Given the description of an element on the screen output the (x, y) to click on. 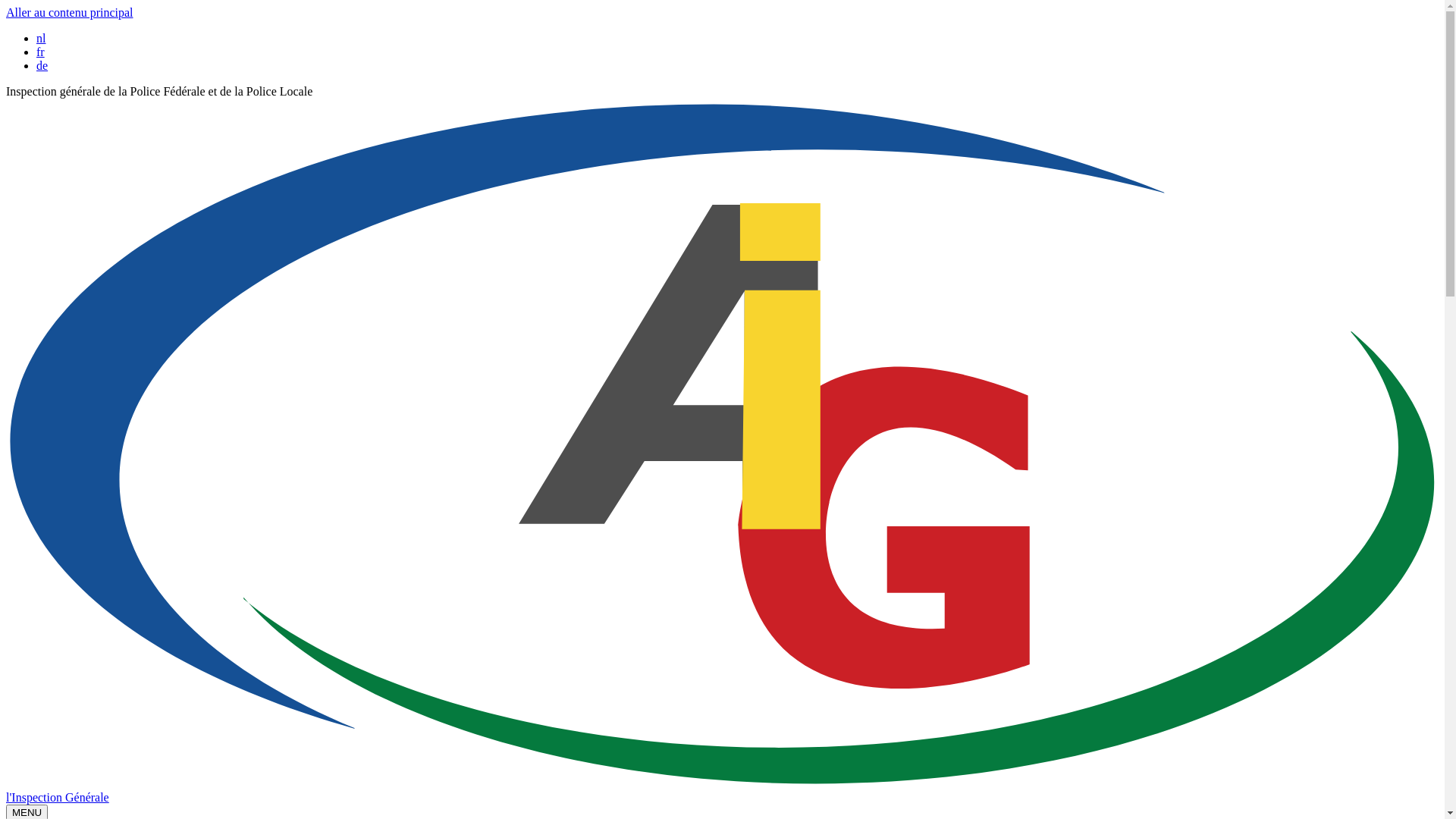
de Element type: text (41, 65)
Aller au contenu principal Element type: text (69, 12)
fr Element type: text (40, 51)
nl Element type: text (40, 37)
